Given the description of an element on the screen output the (x, y) to click on. 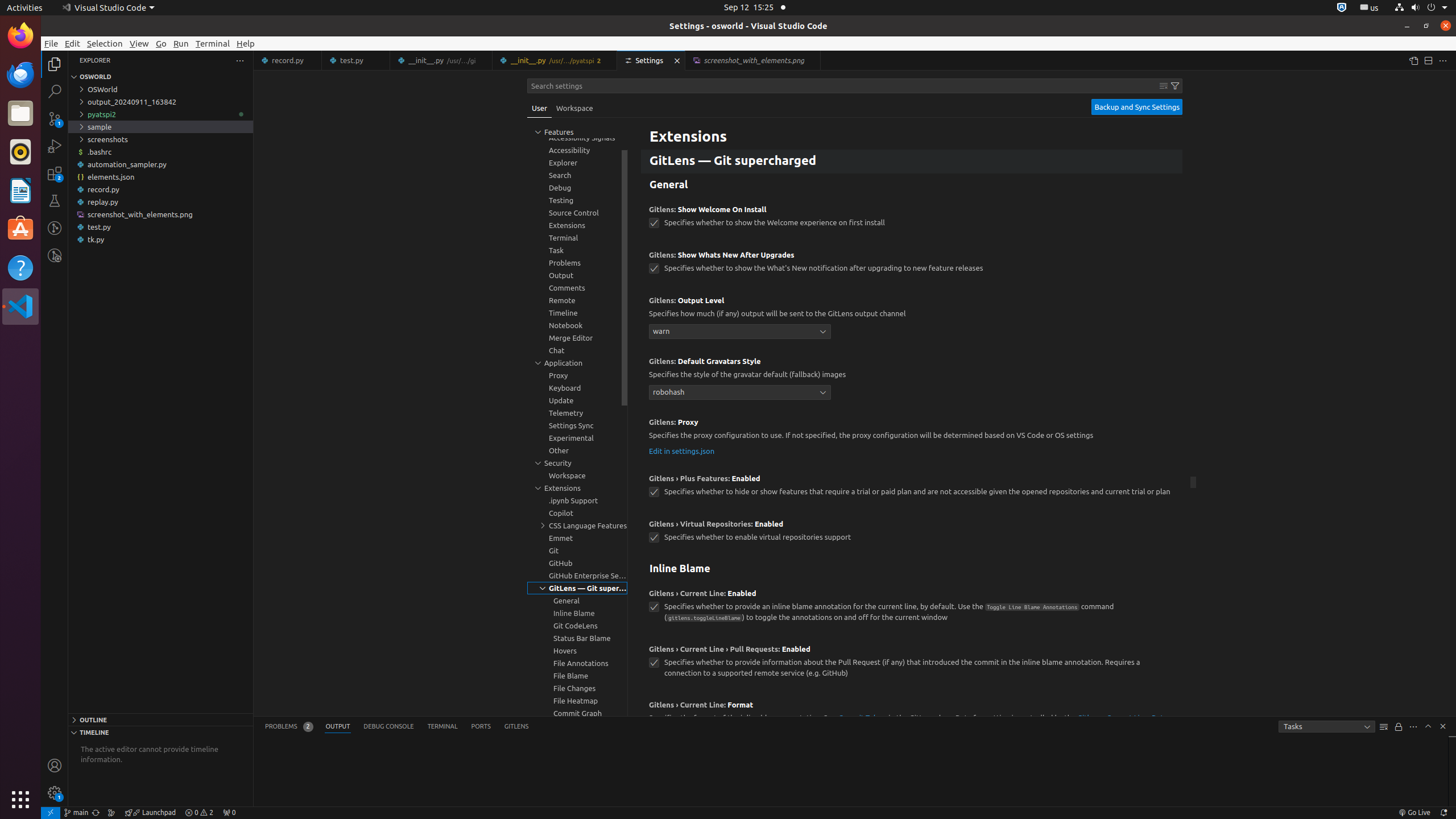
CSS Language Features, group Element type: tree-item (577, 525)
User Element type: check-box (539, 107)
screenshots Element type: tree-item (160, 139)
Other, group Element type: tree-item (577, 450)
Explorer (Ctrl+Shift+E) Element type: page-tab (54, 63)
